Given the description of an element on the screen output the (x, y) to click on. 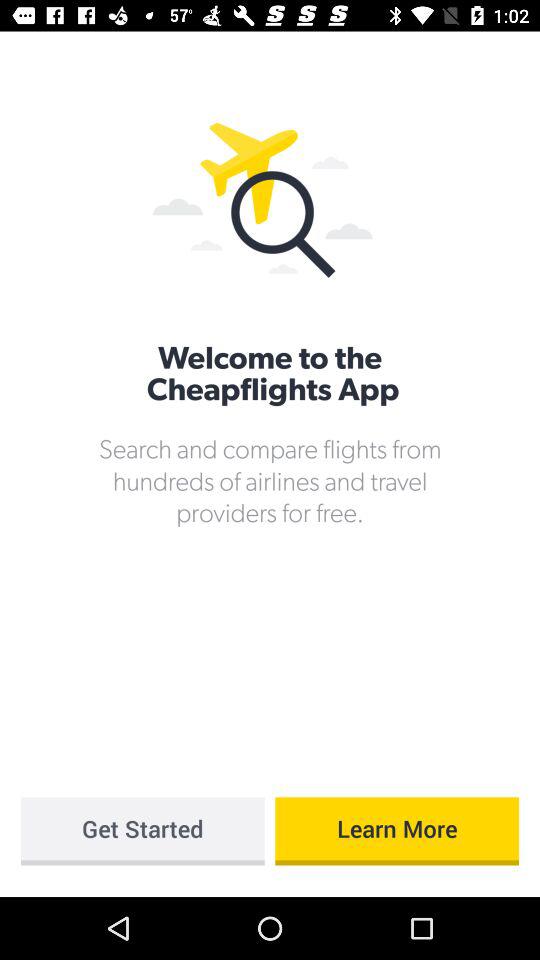
open the learn more at the bottom right corner (397, 831)
